Given the description of an element on the screen output the (x, y) to click on. 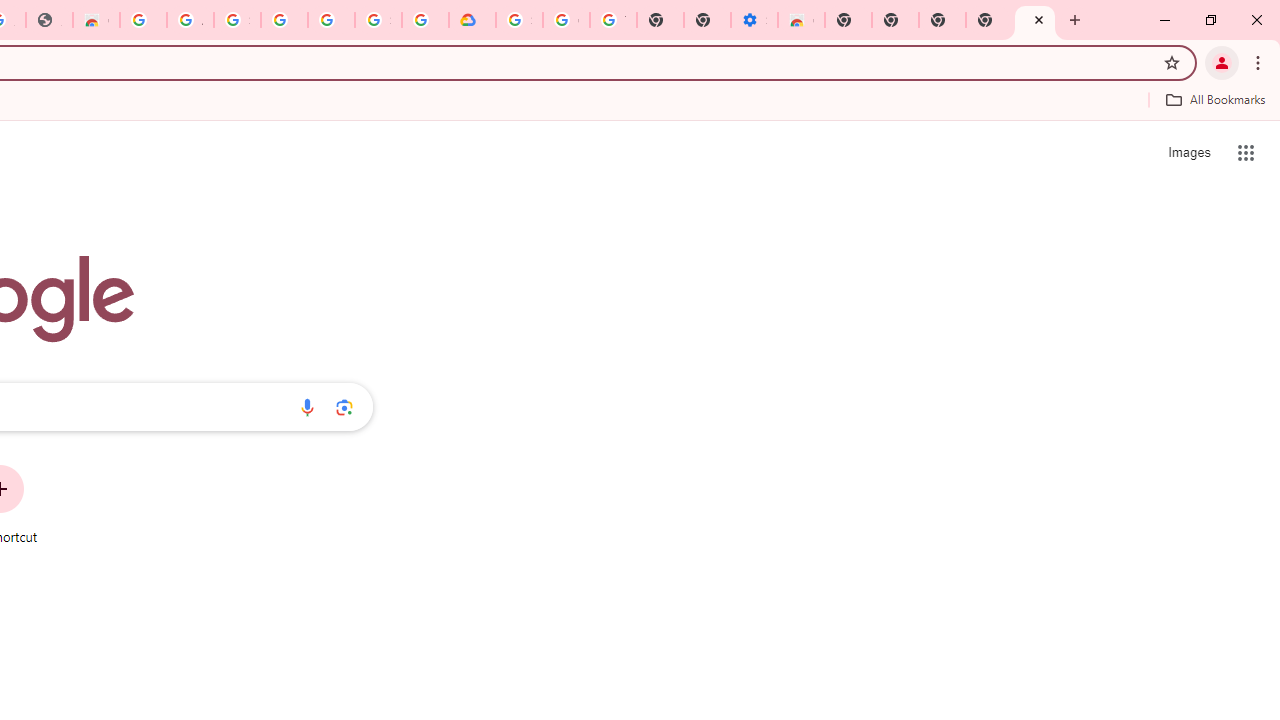
Google Account Help (566, 20)
Settings - Accessibility (754, 20)
Ad Settings (189, 20)
Chrome Web Store - Household (96, 20)
